Given the description of an element on the screen output the (x, y) to click on. 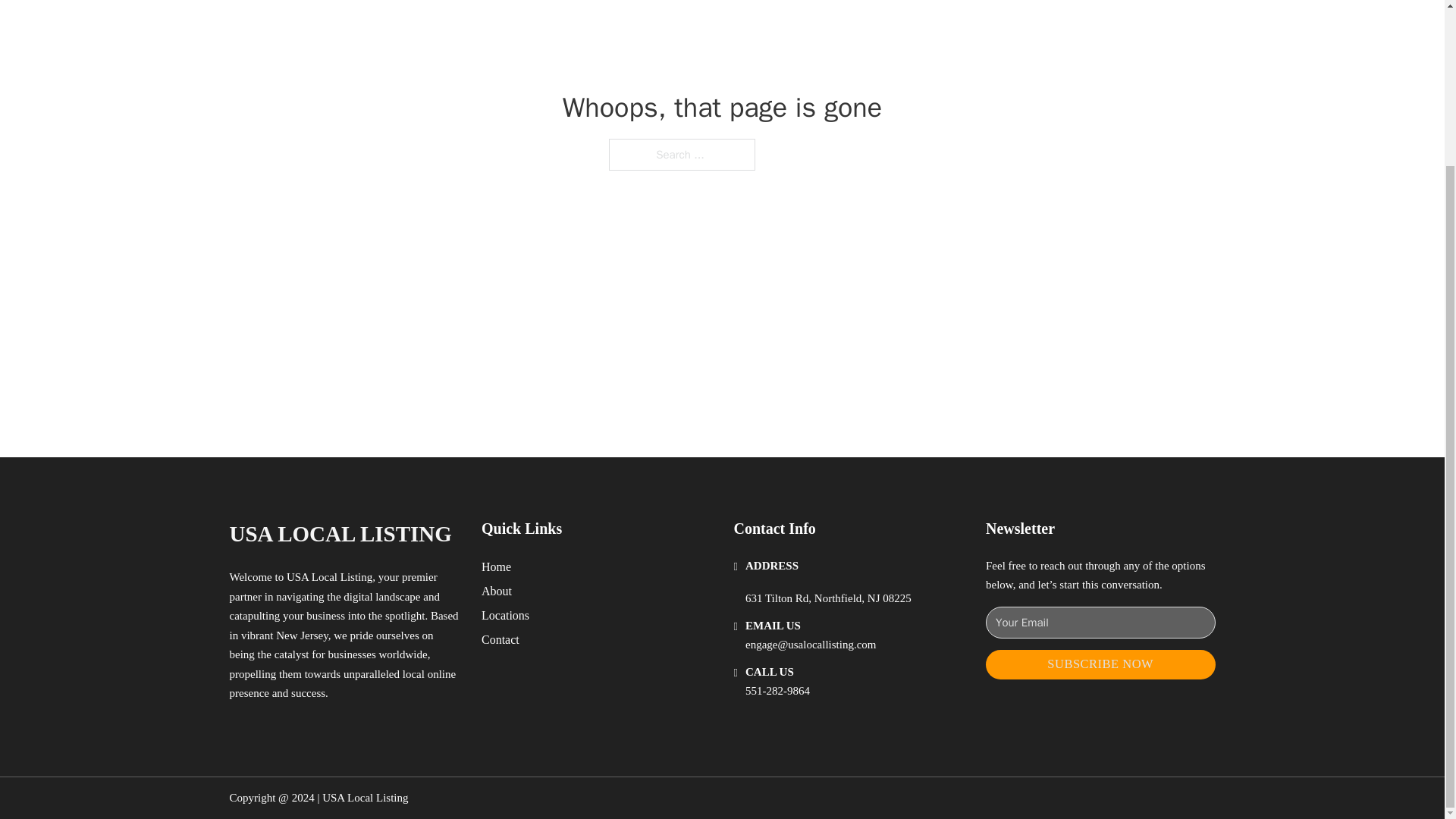
SUBSCRIBE NOW (1100, 664)
Home (496, 566)
Contact (500, 639)
551-282-9864 (777, 690)
About (496, 590)
USA LOCAL LISTING (339, 533)
Locations (505, 615)
